Given the description of an element on the screen output the (x, y) to click on. 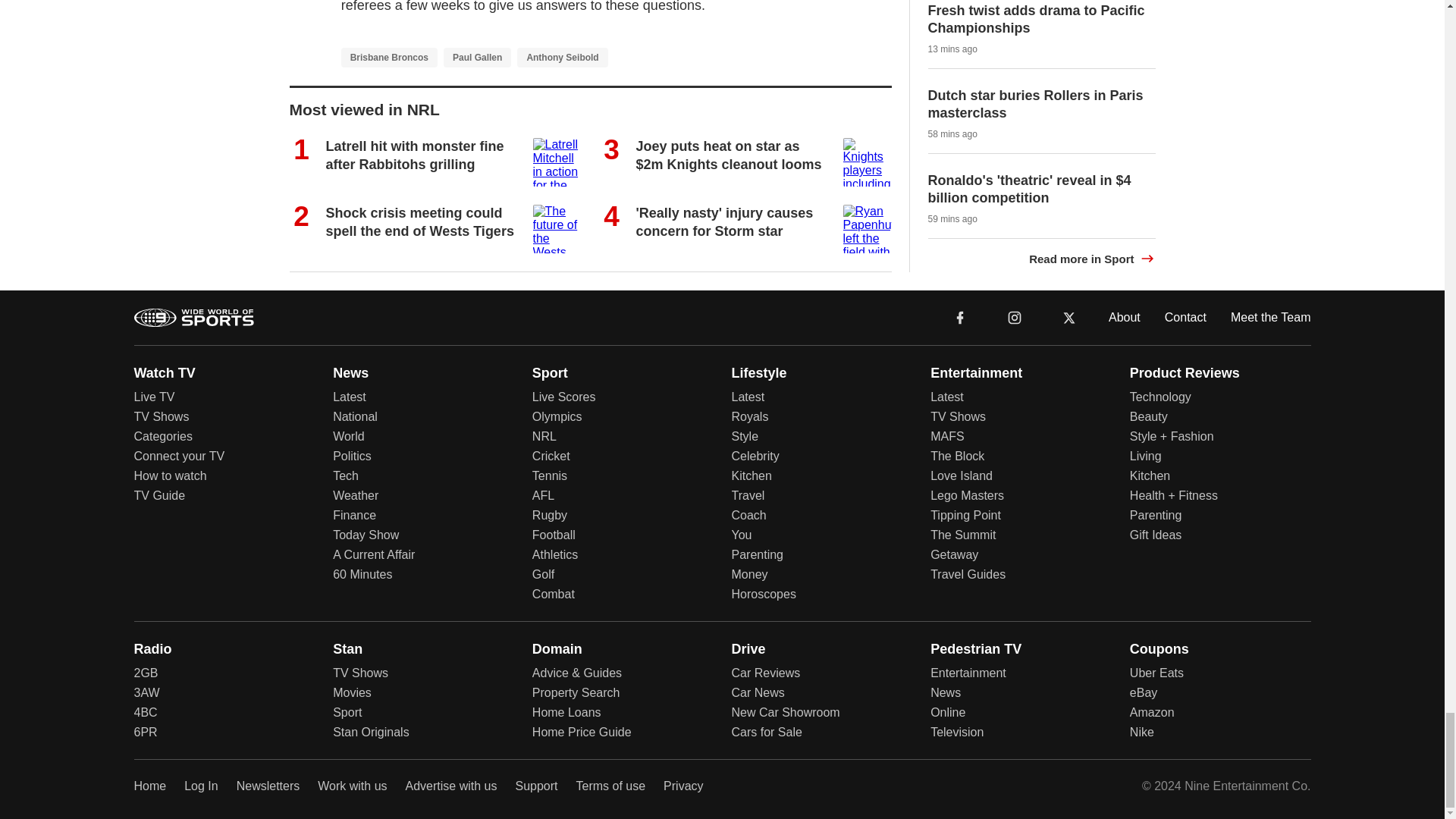
Paul Gallen (477, 57)
'Really nasty' injury causes concern for Storm star (723, 221)
facebook (960, 317)
x (1069, 317)
x (1069, 316)
Brisbane Broncos (389, 57)
facebook (959, 316)
Shock crisis meeting could spell the end of Wests Tigers (419, 221)
instagram (1014, 317)
Anthony Seibold (561, 57)
